Given the description of an element on the screen output the (x, y) to click on. 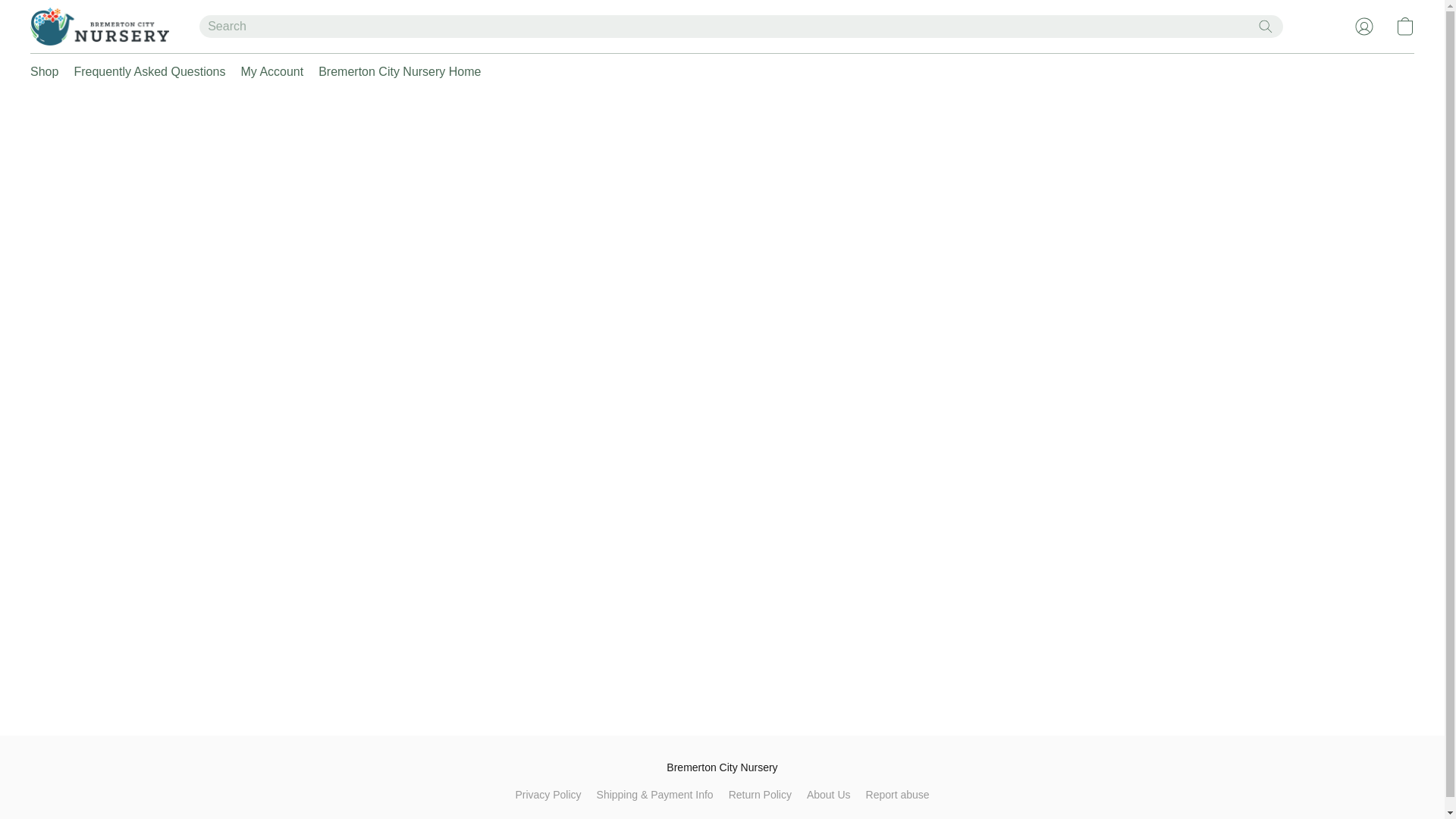
Go to your shopping cart (1404, 26)
Privacy Policy (547, 794)
Frequently Asked Questions (148, 71)
Bremerton City Nursery Home (395, 71)
Report abuse (898, 794)
Shop (47, 71)
Return Policy (760, 794)
My Account (271, 71)
About Us (828, 794)
